Given the description of an element on the screen output the (x, y) to click on. 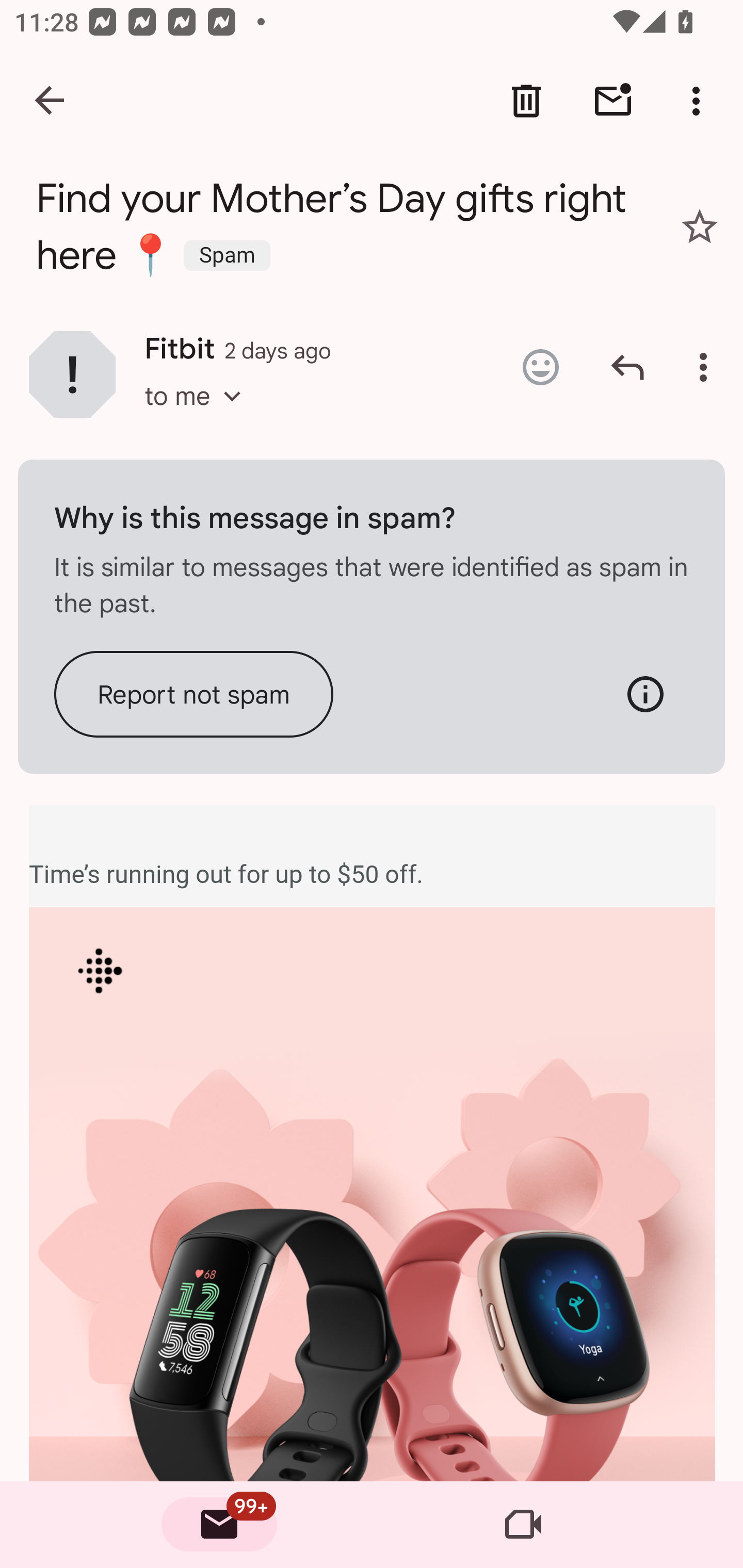
Navigate up (50, 101)
Delete (525, 101)
Mark unread (612, 101)
More options (699, 101)
Add star (699, 226)
Add emoji reaction (540, 367)
Reply (626, 367)
More options (706, 367)
Show contact information for Fitbit (71, 373)
Empty spam now (230, 402)
Report not spam (193, 693)
More information (644, 693)
Meet (523, 1524)
